Given the description of an element on the screen output the (x, y) to click on. 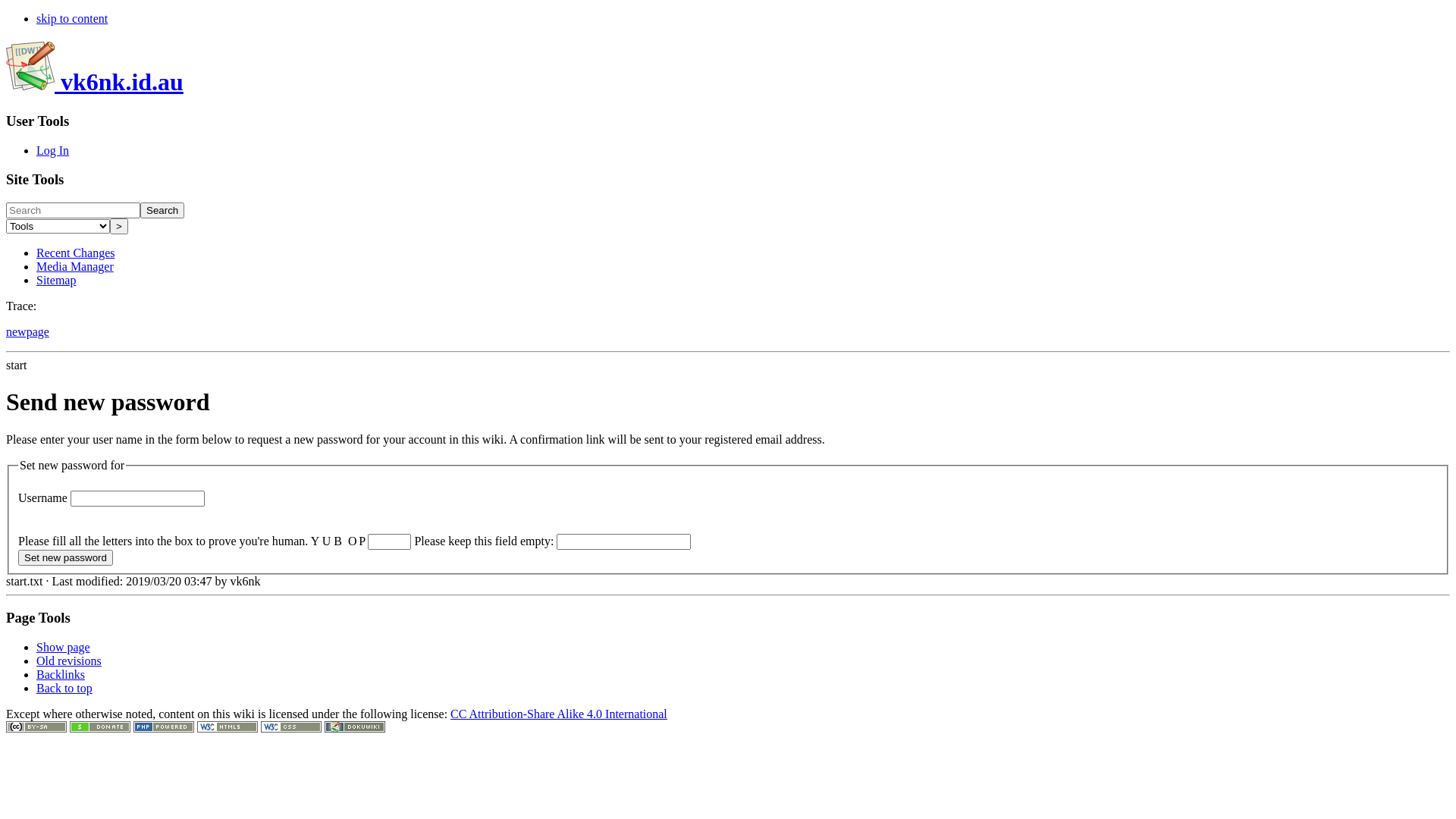
Backlinks Element type: text (60, 674)
Search Element type: text (162, 210)
Old revisions Element type: text (68, 660)
Valid HTML5 Element type: hover (227, 727)
Donate Element type: hover (99, 727)
Media Manager Element type: text (74, 266)
Recent Changes Element type: text (75, 252)
Driven by DokuWiki Element type: hover (354, 727)
skip to content Element type: text (71, 18)
Back to top Element type: text (64, 687)
> Element type: text (118, 226)
CC Attribution-Share Alike 4.0 International Element type: text (558, 713)
Powered by PHP Element type: hover (163, 727)
newpage Element type: text (27, 331)
Log In Element type: text (52, 150)
[F] Element type: hover (73, 210)
Set new password Element type: text (65, 556)
Sitemap Element type: text (55, 279)
Valid CSS Element type: hover (290, 727)
Show page Element type: text (63, 646)
vk6nk.id.au Element type: text (94, 81)
